Given the description of an element on the screen output the (x, y) to click on. 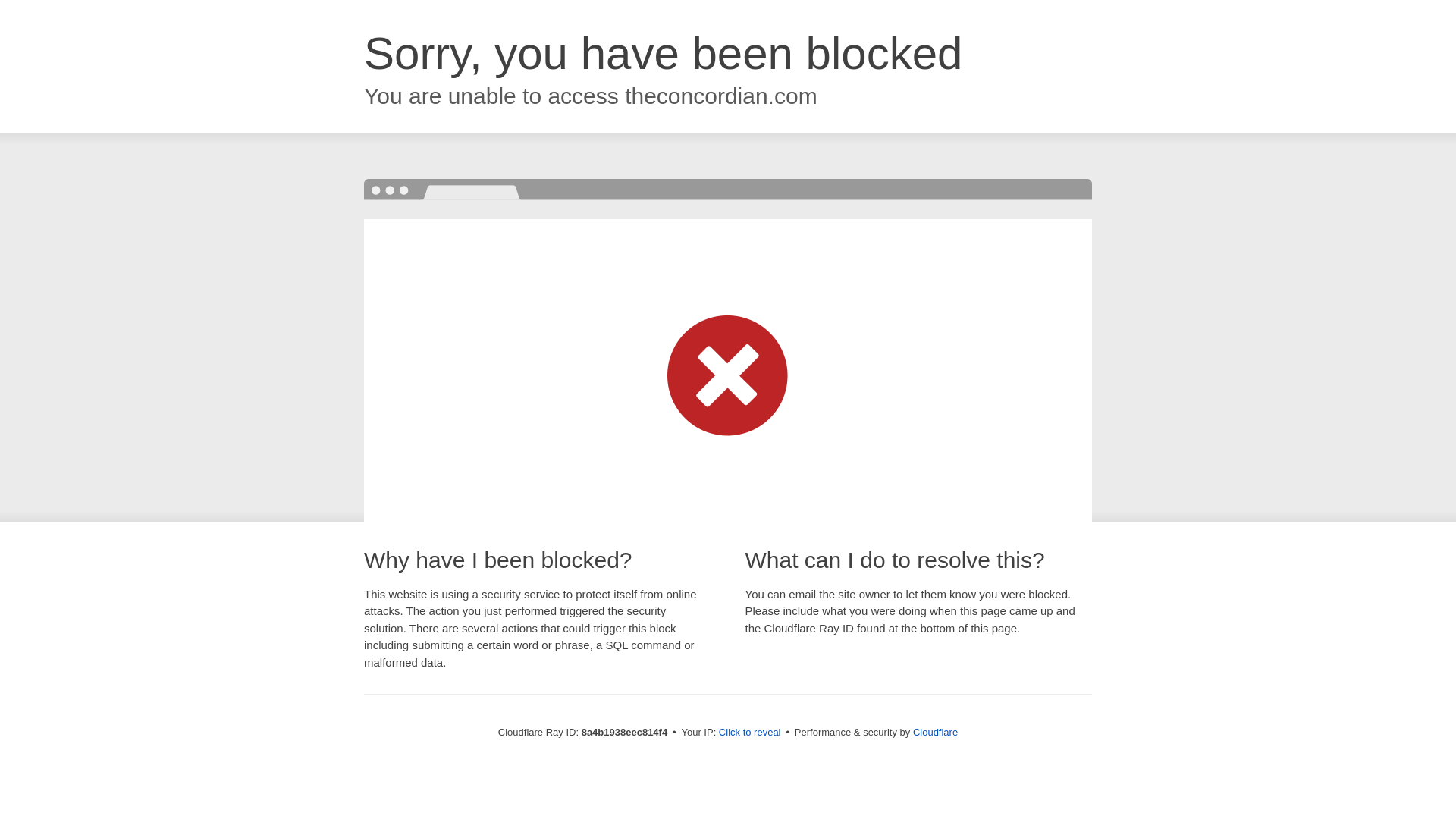
Click to reveal (749, 732)
Cloudflare (935, 731)
